Given the description of an element on the screen output the (x, y) to click on. 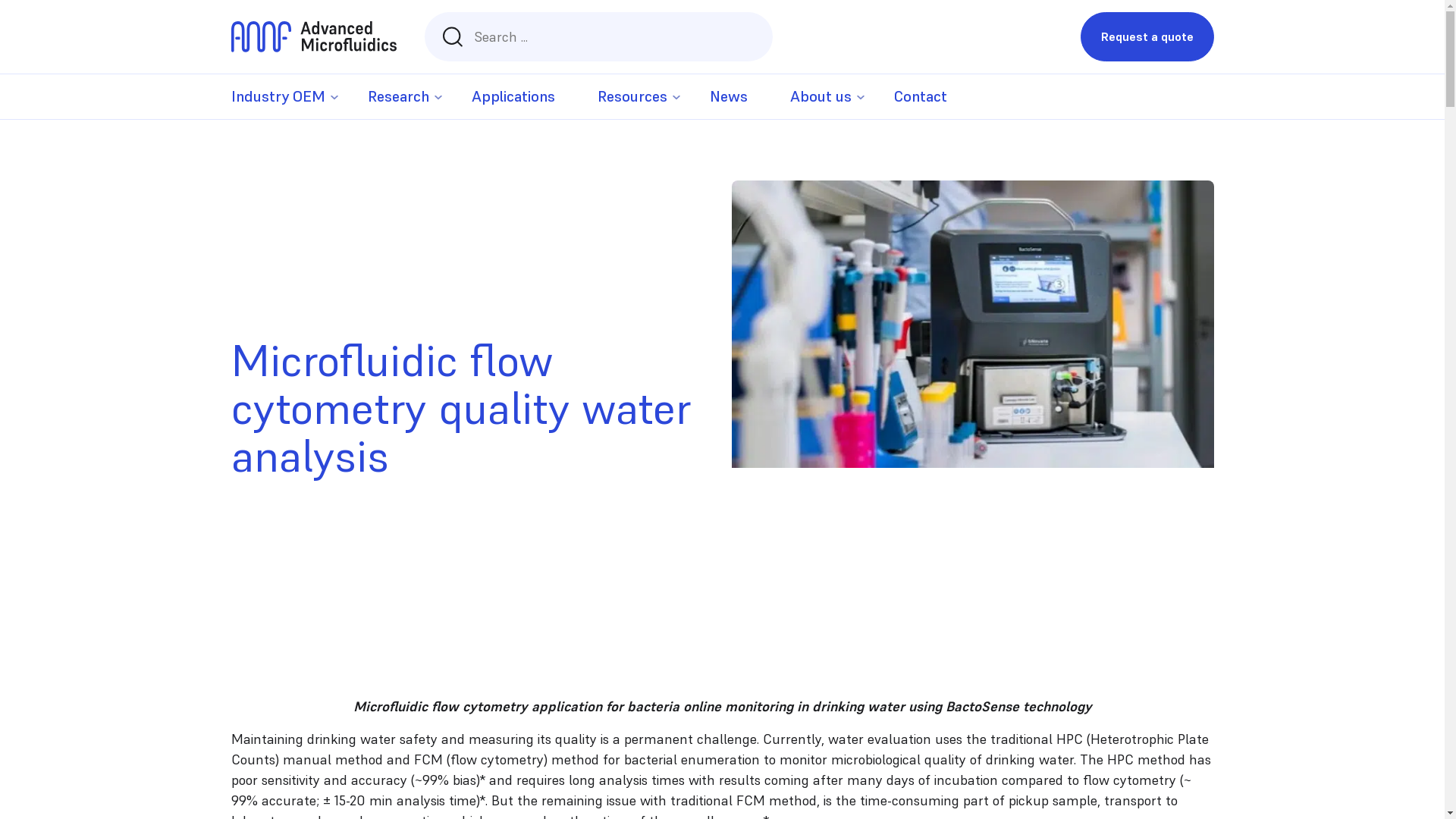
About us Element type: text (820, 96)
Request a quote Element type: text (1146, 36)
Industry OEM Element type: text (277, 96)
Applications Element type: text (513, 96)
Contact Element type: text (919, 96)
Research Element type: text (397, 96)
News Element type: text (728, 96)
Resources Element type: text (632, 96)
